Given the description of an element on the screen output the (x, y) to click on. 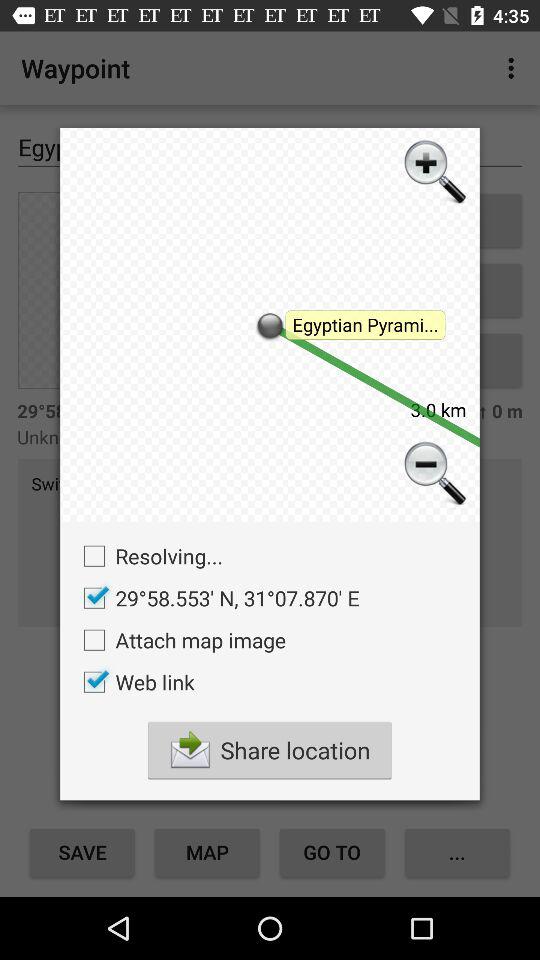
launch attach map image item (179, 640)
